Given the description of an element on the screen output the (x, y) to click on. 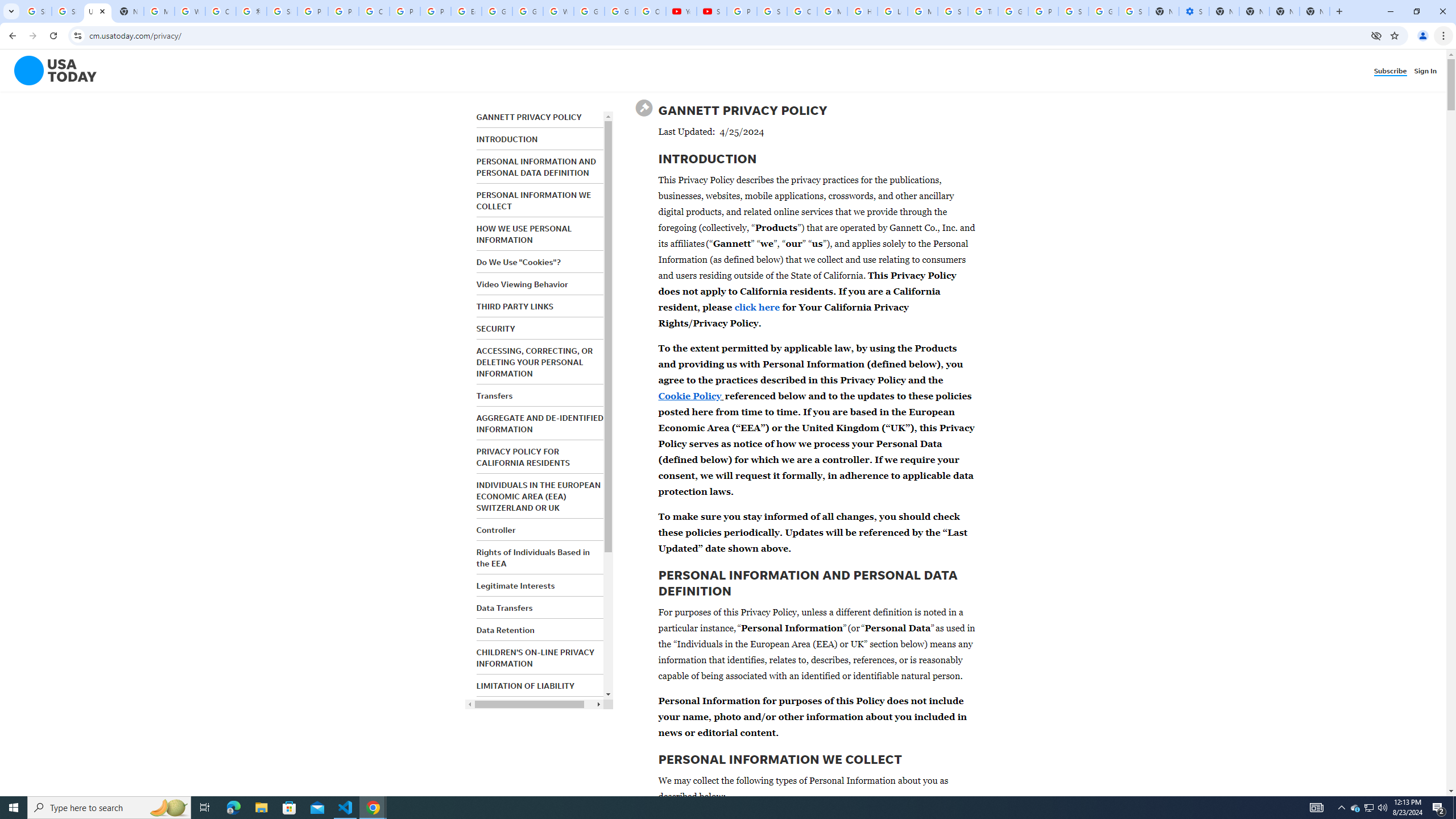
Sign in - Google Accounts (66, 11)
Search our Doodle Library Collection - Google Doodles (952, 11)
Create your Google Account (373, 11)
ACCESSING, CORRECTING, OR DELETING YOUR PERSONAL INFORMATION (534, 361)
SECURITY (495, 328)
HOW WE USE PERSONAL INFORMATION (524, 233)
Edit and view right-to-left text - Google Docs Editors Help (465, 11)
Controller (495, 529)
